Given the description of an element on the screen output the (x, y) to click on. 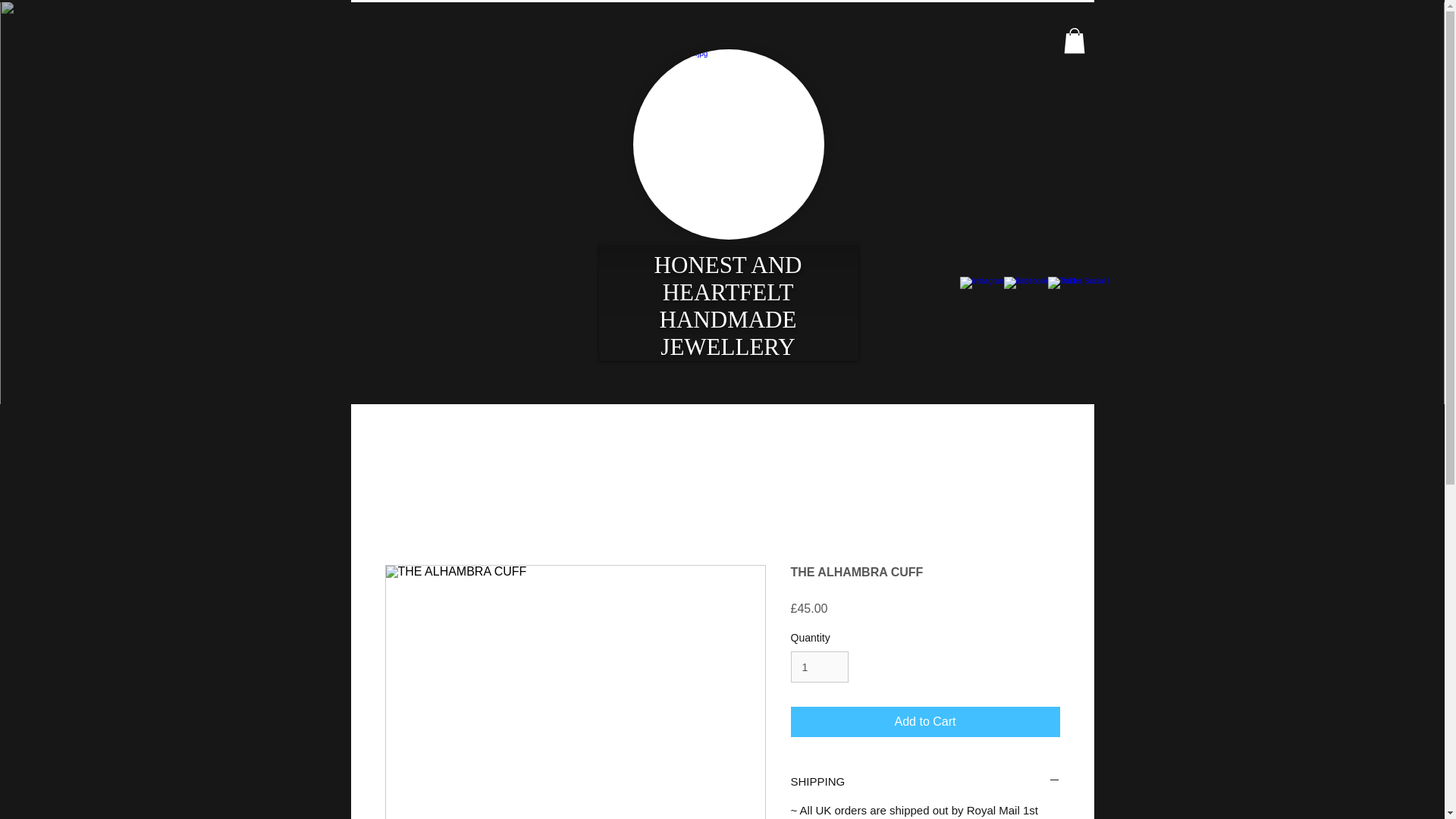
HONEST AND HEARTFELT HANDMADE JEWELLERY (727, 305)
SHIPPING (924, 781)
1 (818, 666)
Add to Cart (924, 721)
